Given the description of an element on the screen output the (x, y) to click on. 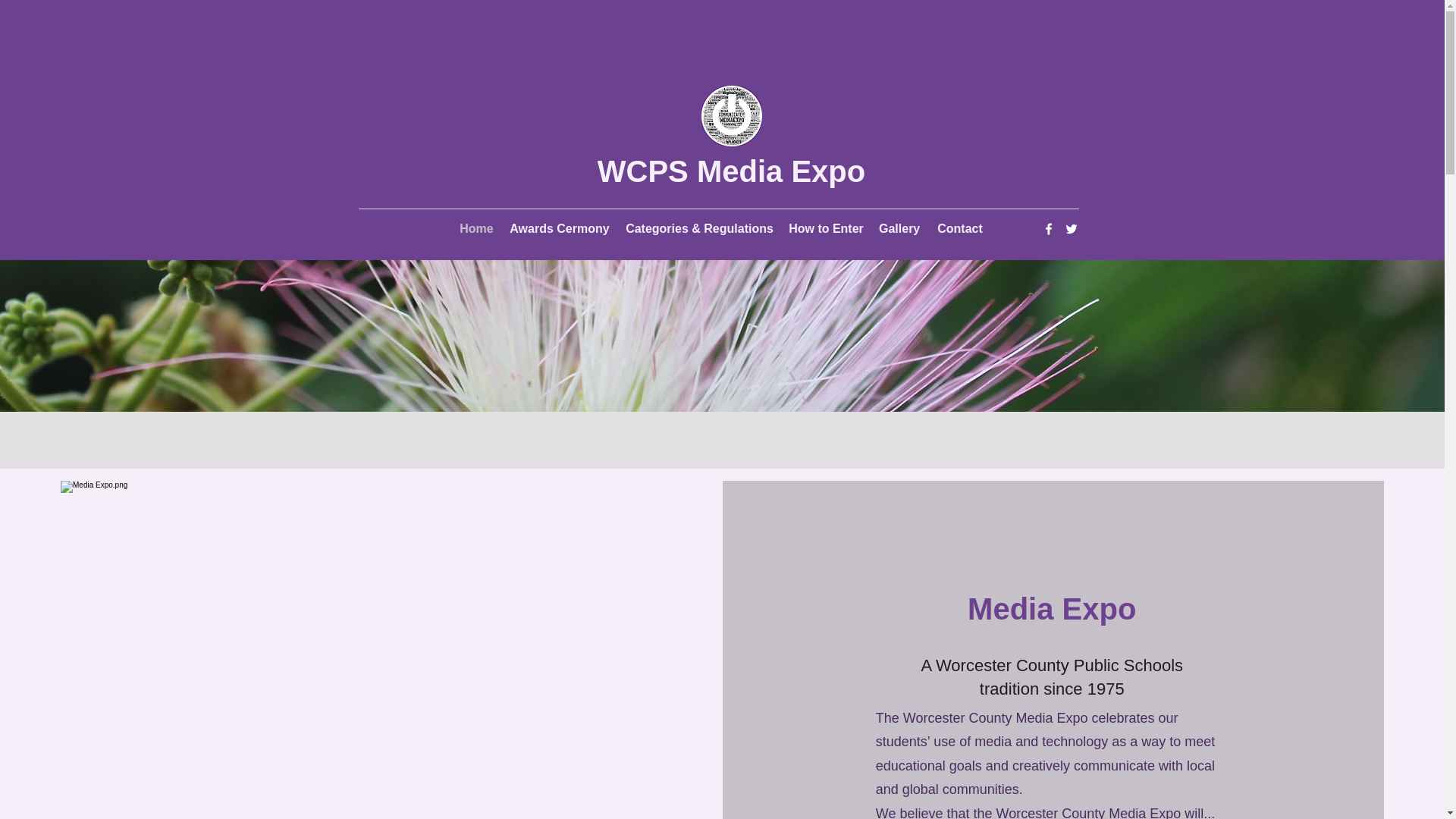
How to Enter (825, 228)
Home (475, 228)
Awards Cermony (558, 228)
Contact (959, 228)
Gallery (898, 228)
